Given the description of an element on the screen output the (x, y) to click on. 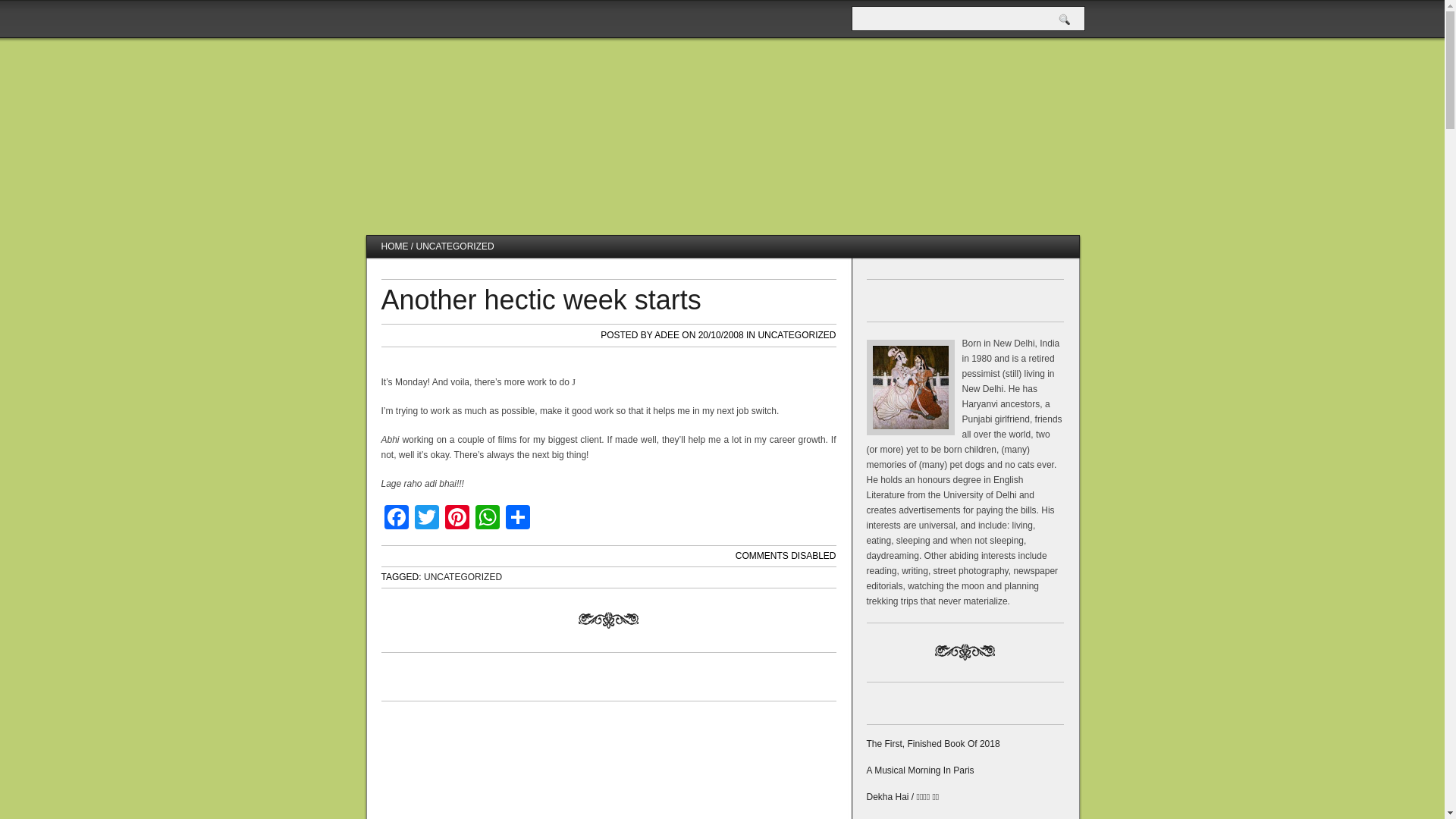
delhidreams (452, 121)
UNCATEGORIZED (796, 335)
Go (1064, 19)
Go (1064, 19)
Share (517, 519)
WhatsApp (486, 519)
Pinterest (456, 519)
HOME (393, 245)
A Musical Morning In Paris (920, 769)
Facebook (395, 519)
Pinterest (456, 519)
WhatsApp (486, 519)
UNCATEGORIZED (455, 245)
The First, Finished Book Of 2018 (932, 743)
UNCATEGORIZED (462, 576)
